Given the description of an element on the screen output the (x, y) to click on. 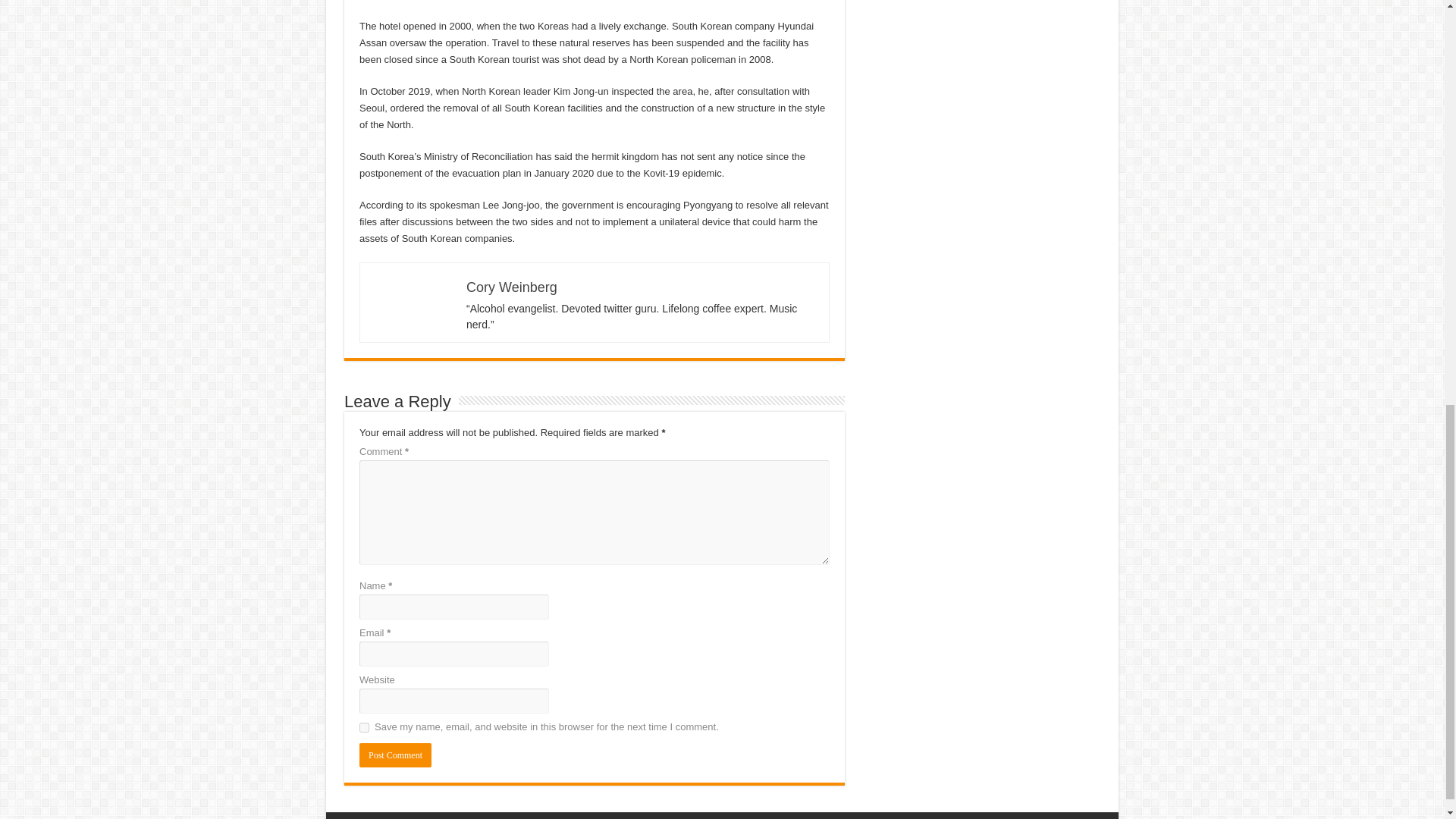
Cory Weinberg (511, 287)
Post Comment (394, 754)
Post Comment (394, 754)
yes (364, 727)
